Given the description of an element on the screen output the (x, y) to click on. 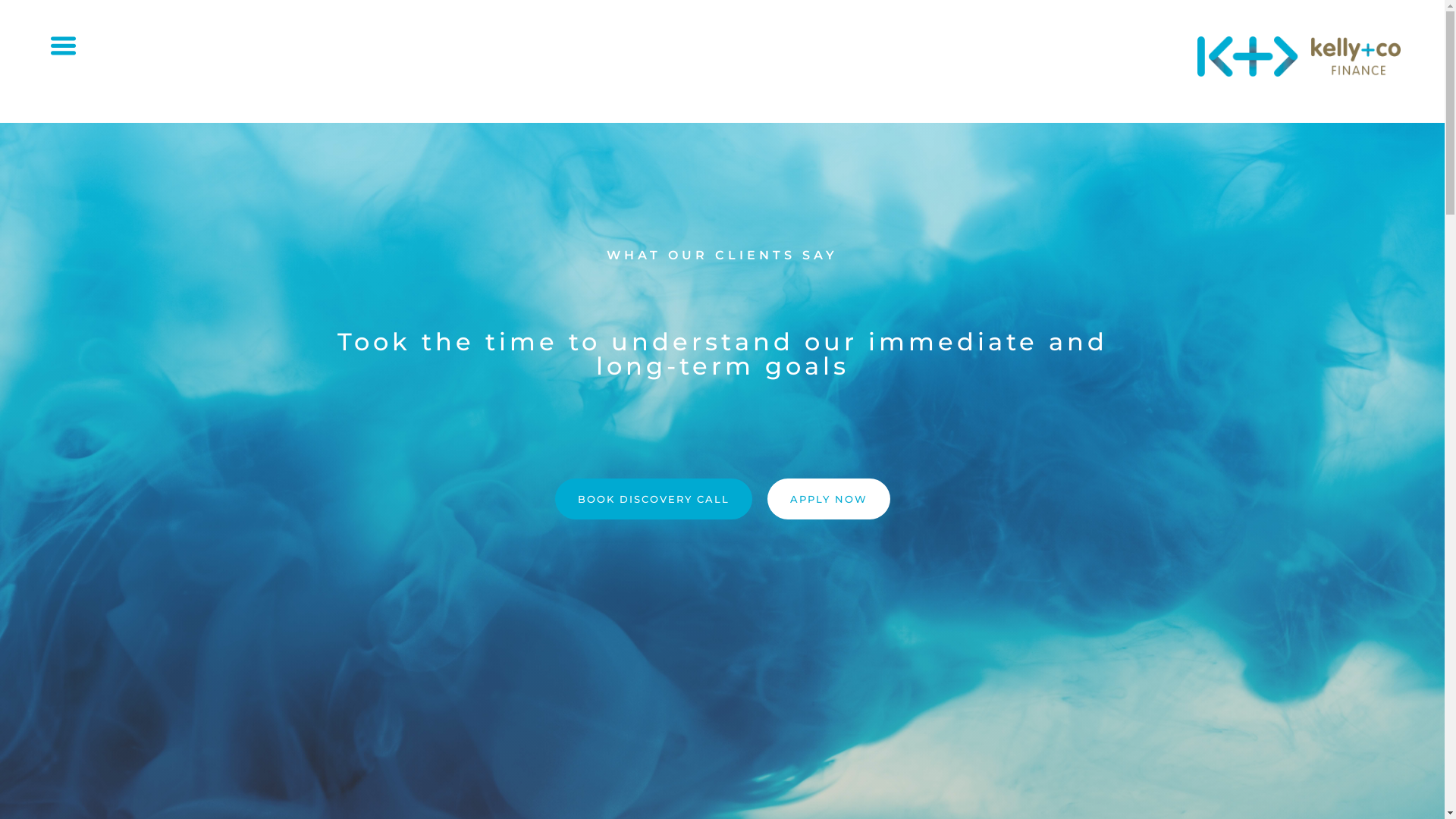
APPLY NOW Element type: text (828, 498)
BOOK DISCOVERY CALL Element type: text (653, 498)
kelly_and_co_finacne_logo Element type: hover (1299, 56)
